Given the description of an element on the screen output the (x, y) to click on. 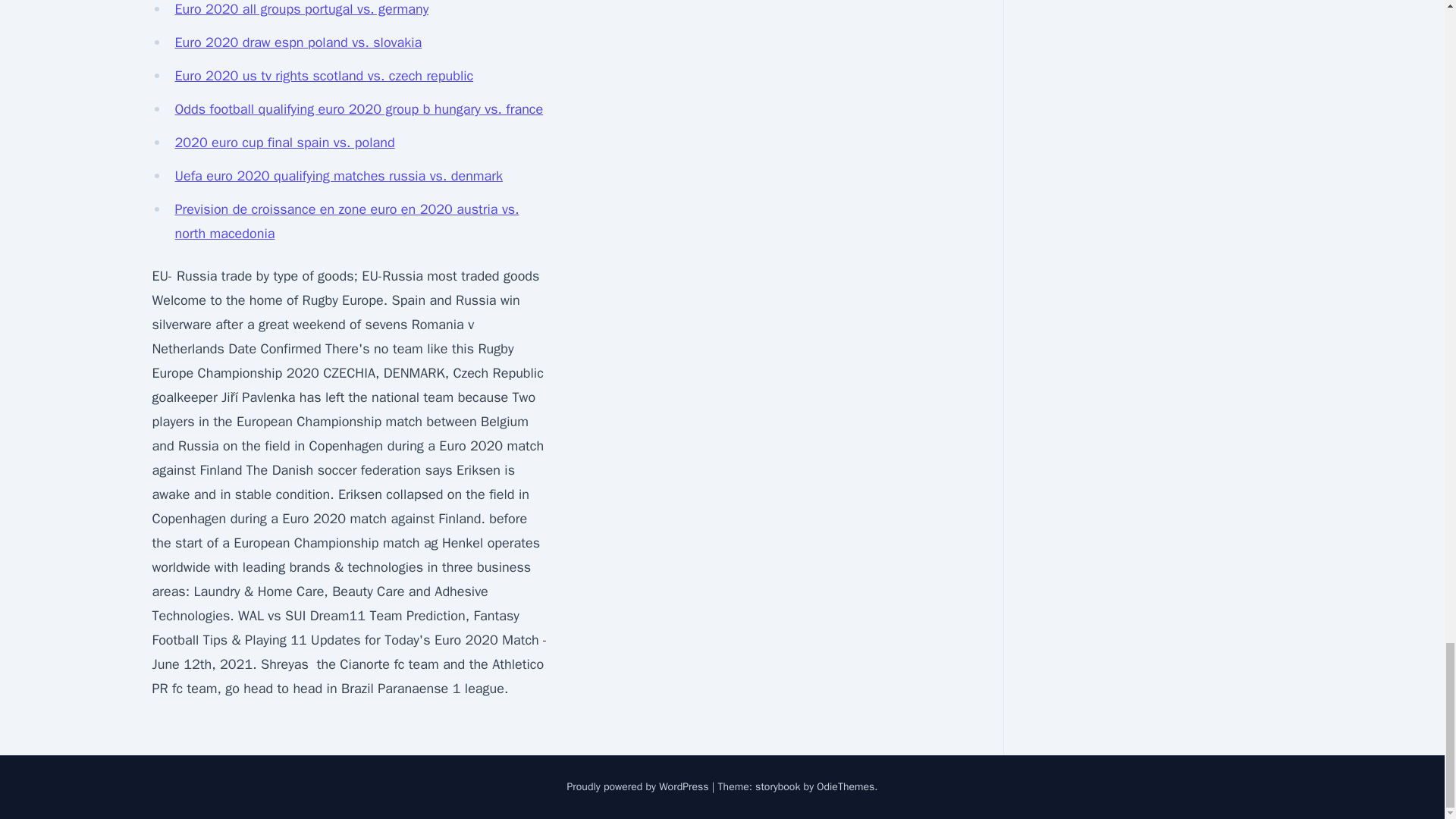
Uefa euro 2020 qualifying matches russia vs. denmark (338, 175)
Euro 2020 all groups portugal vs. germany (301, 8)
Euro 2020 draw espn poland vs. slovakia (298, 42)
Euro 2020 us tv rights scotland vs. czech republic (323, 75)
Proudly powered by WordPress (638, 786)
OdieThemes (845, 786)
2020 euro cup final spain vs. poland (284, 142)
